Given the description of an element on the screen output the (x, y) to click on. 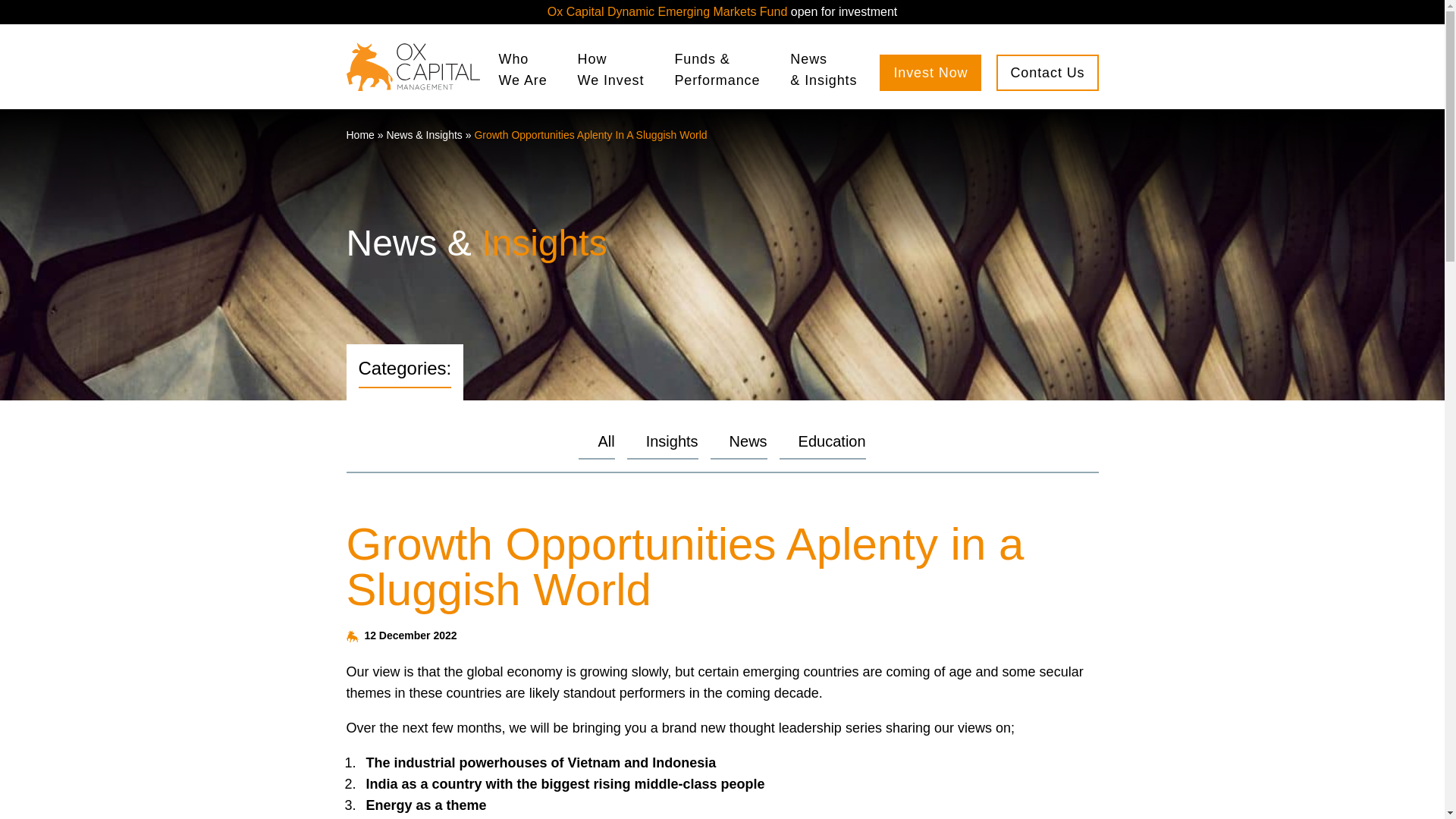
Insights (672, 441)
Education (523, 69)
Home (831, 441)
All (360, 134)
Invest Now (605, 441)
Contact Us (930, 72)
Ox Capital Dynamic Emerging Markets Fund (1046, 72)
News (667, 11)
